Given the description of an element on the screen output the (x, y) to click on. 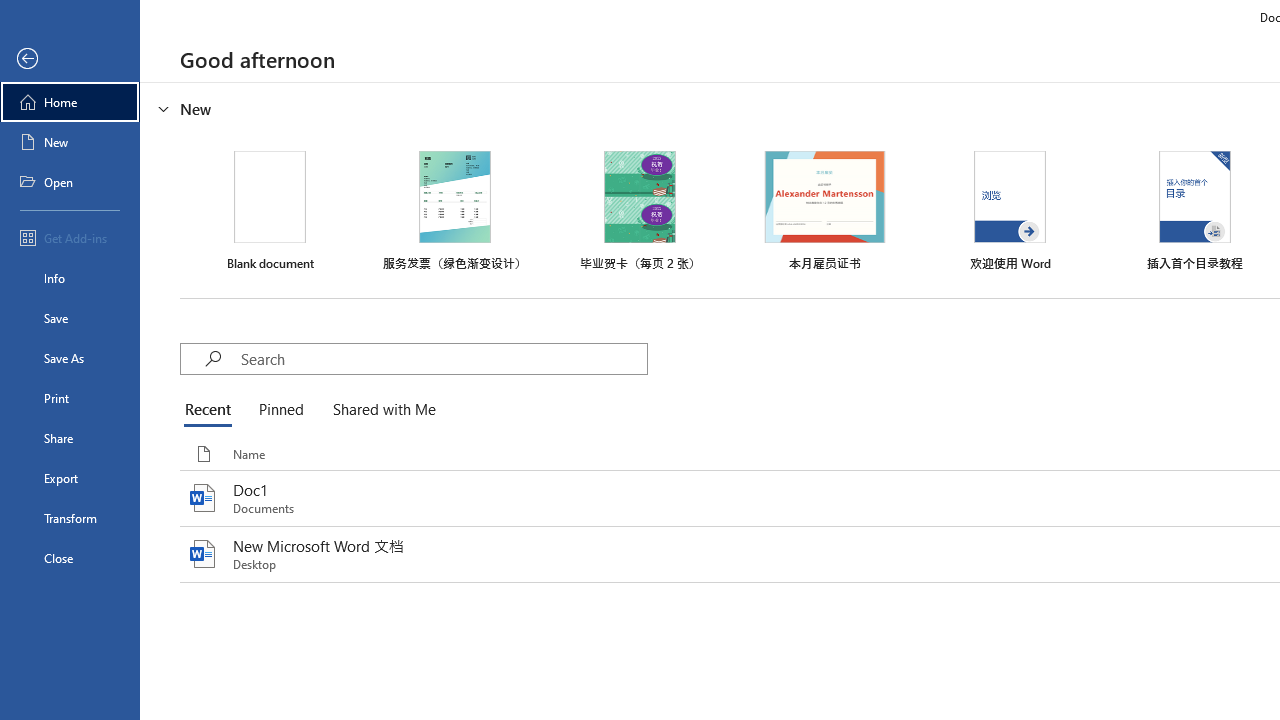
Transform (69, 517)
Pinned (280, 410)
Blank document (269, 211)
Info (69, 277)
Recent (212, 410)
Export (69, 477)
Get Add-ins (69, 237)
Back (69, 59)
Shared with Me (379, 410)
Save As (69, 357)
